Given the description of an element on the screen output the (x, y) to click on. 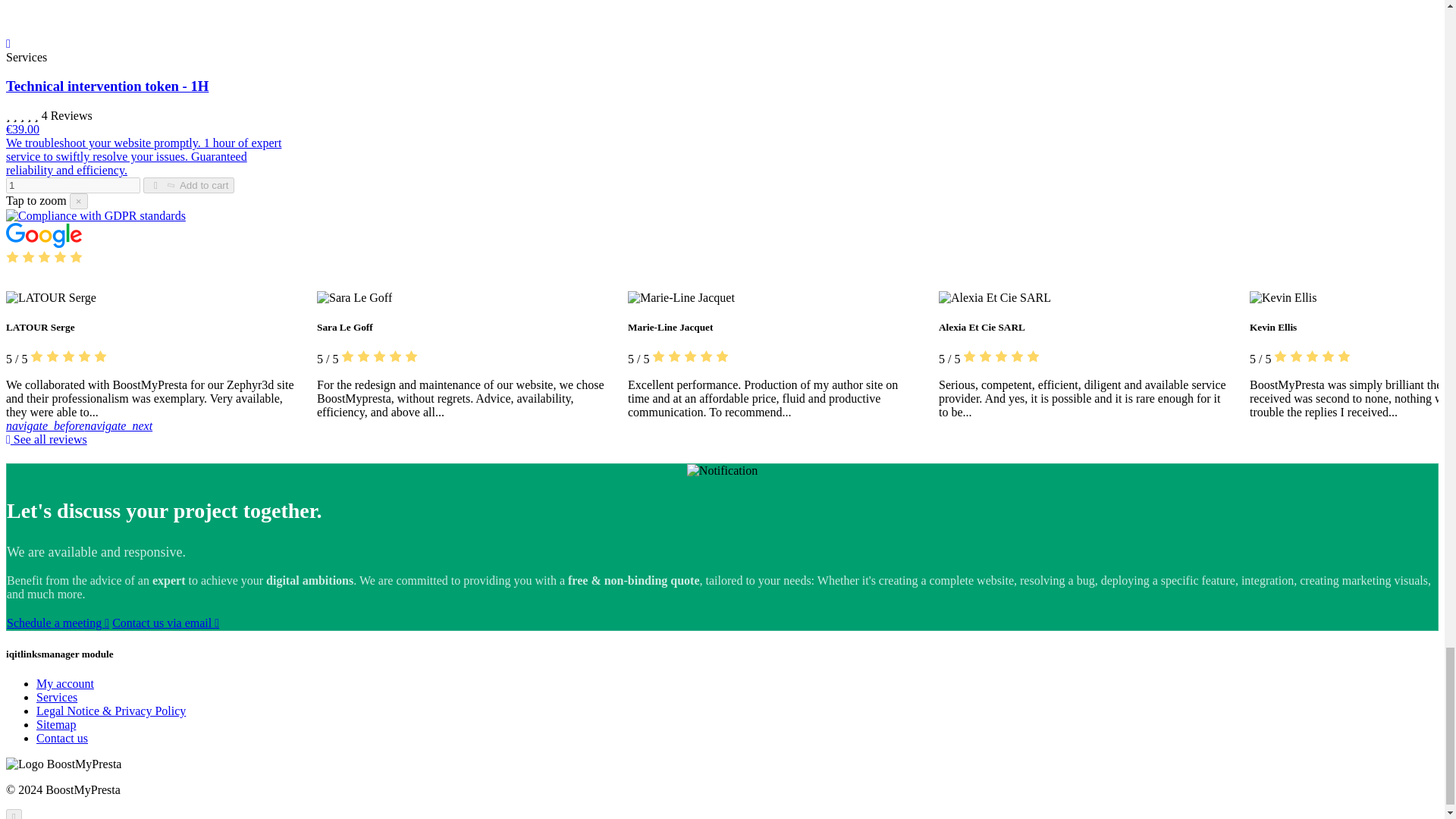
1 (72, 185)
